Given the description of an element on the screen output the (x, y) to click on. 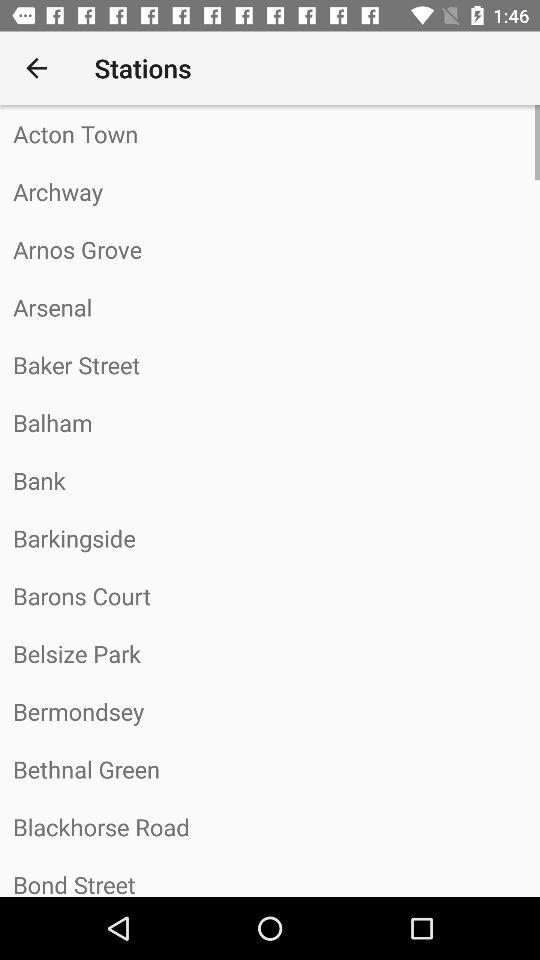
turn on the arsenal (270, 307)
